Given the description of an element on the screen output the (x, y) to click on. 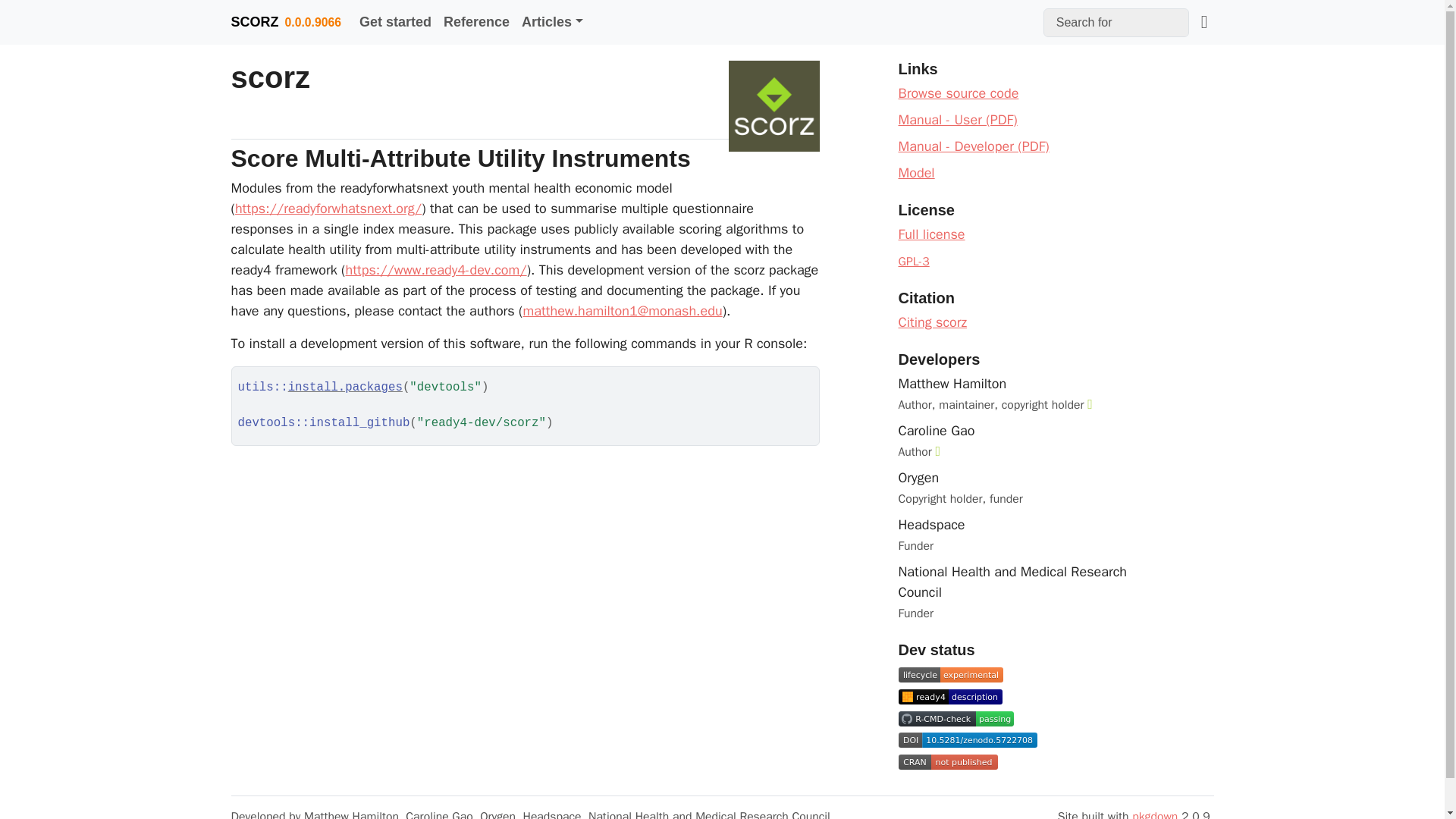
Articles (552, 21)
Reference (476, 21)
pkgdown (1154, 814)
Model (916, 172)
Citing scorz (932, 321)
Get started (395, 21)
Unreleased version (312, 22)
install.packages (345, 386)
Browse source code (957, 93)
Full license (930, 234)
SCORZ (254, 20)
GPL-3 (913, 261)
